Given the description of an element on the screen output the (x, y) to click on. 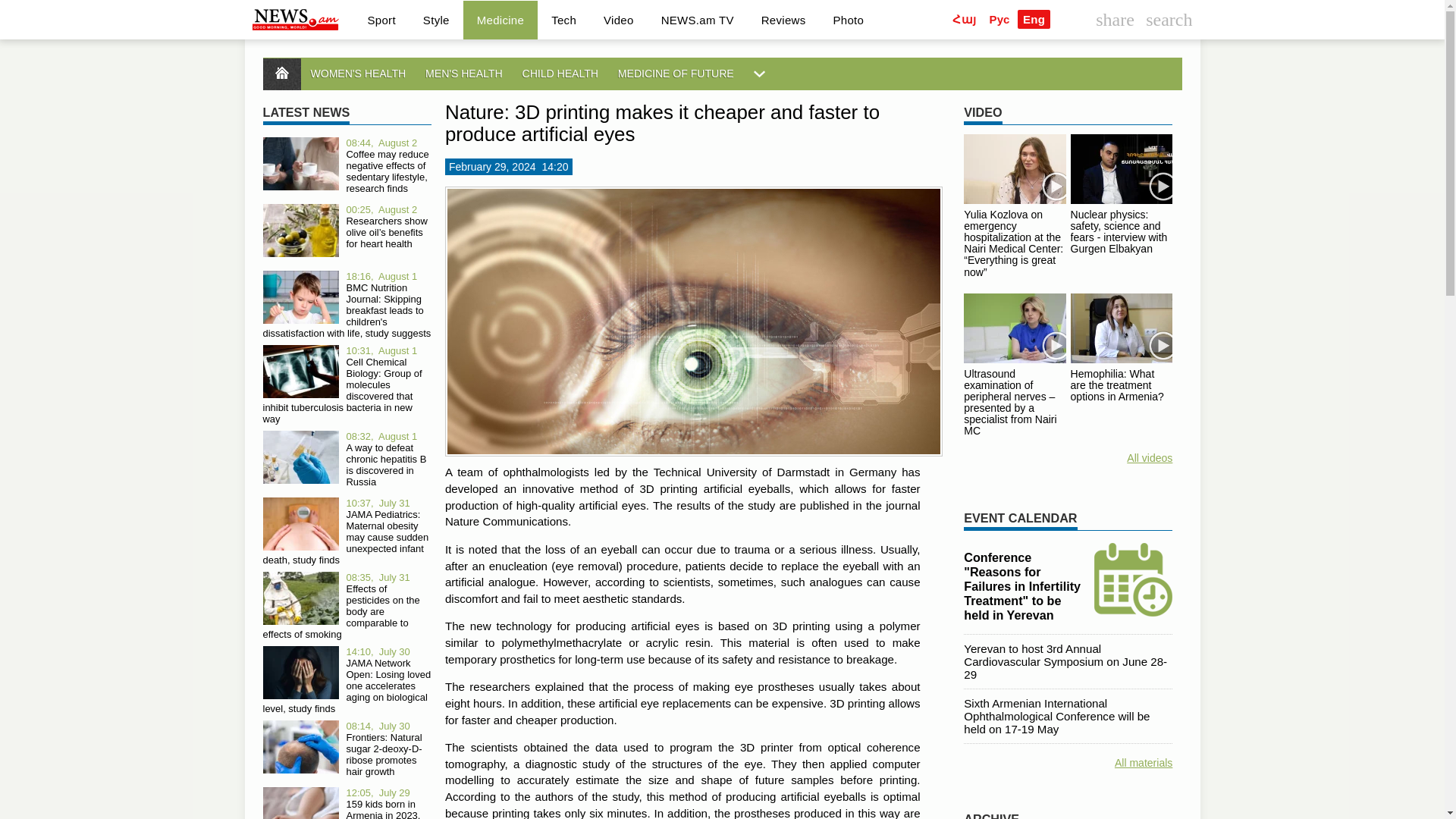
Style (436, 19)
Eng (1033, 18)
Tech (563, 19)
Video (618, 19)
Sport (381, 19)
NEWS.am TV (697, 19)
Eng (720, 73)
Medicine (1033, 18)
WOMEN'S HEALTH (500, 19)
CHILD HEALTH (356, 73)
MEN'S HEALTH (560, 73)
Photo (463, 73)
MEDICINE OF FUTURE (848, 19)
Reviews (676, 73)
